Given the description of an element on the screen output the (x, y) to click on. 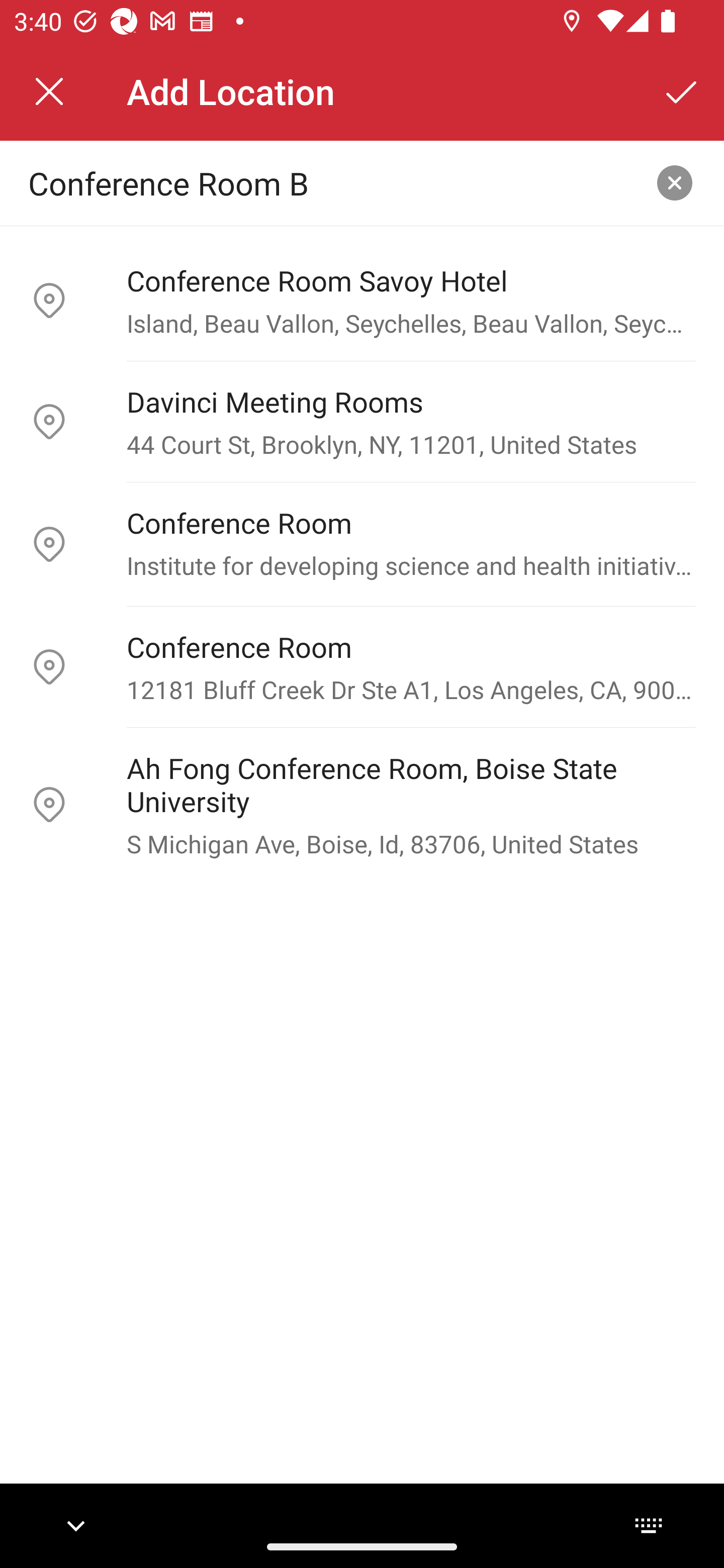
Close (49, 91)
Done (681, 91)
Clear location (674, 183)
Conference Room B (330, 182)
